Given the description of an element on the screen output the (x, y) to click on. 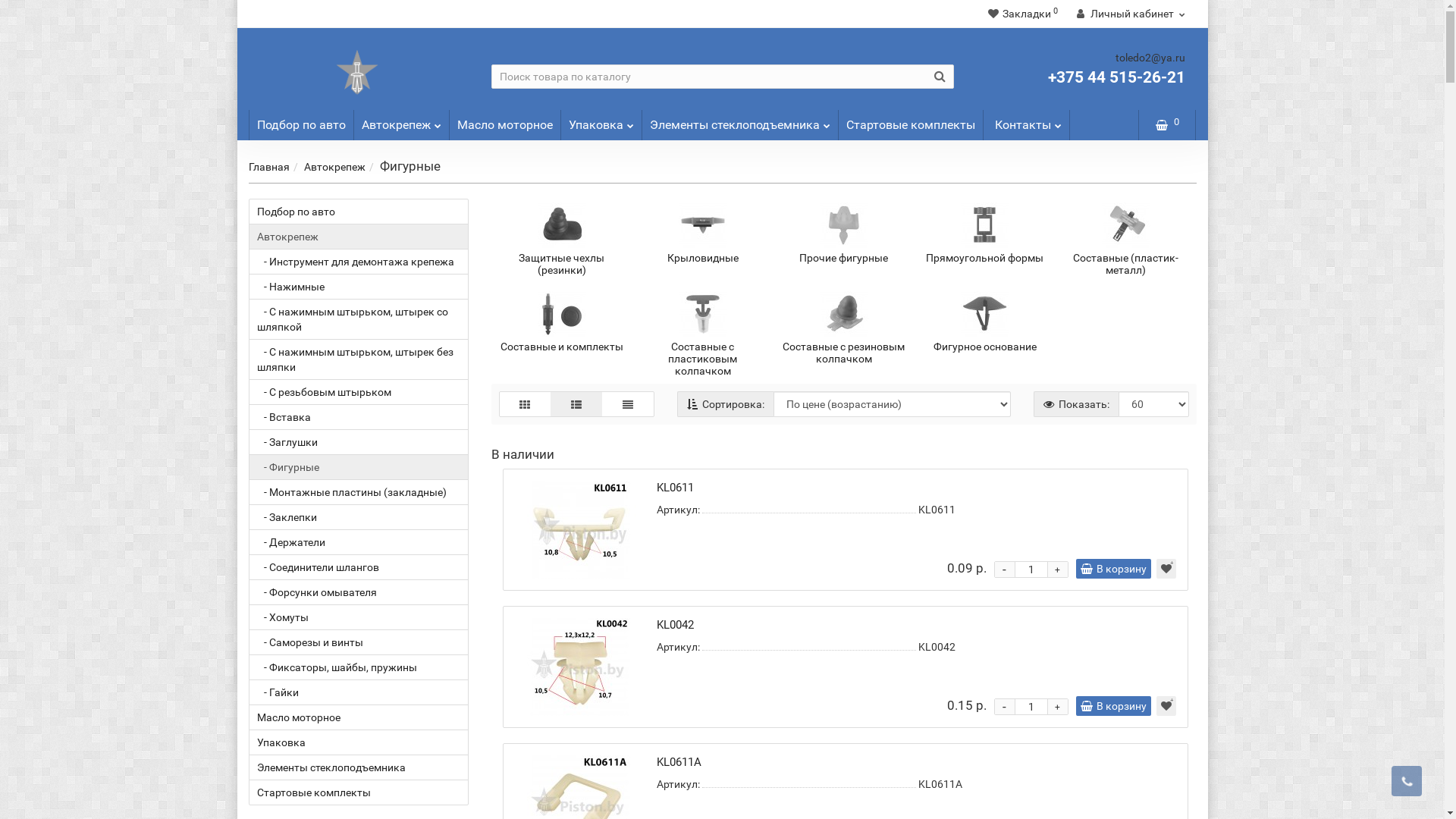
+ Element type: text (1057, 569)
KL0611 Element type: hover (579, 529)
0 Element type: text (1167, 124)
KL0042 Element type: hover (579, 666)
- Element type: text (1004, 706)
KL0611 Element type: text (674, 487)
+ Element type: text (1057, 706)
+375 44 515-26-21 Element type: text (1116, 77)
- Element type: text (1004, 569)
KL0611A Element type: text (678, 761)
KL0042 Element type: text (674, 624)
